Given the description of an element on the screen output the (x, y) to click on. 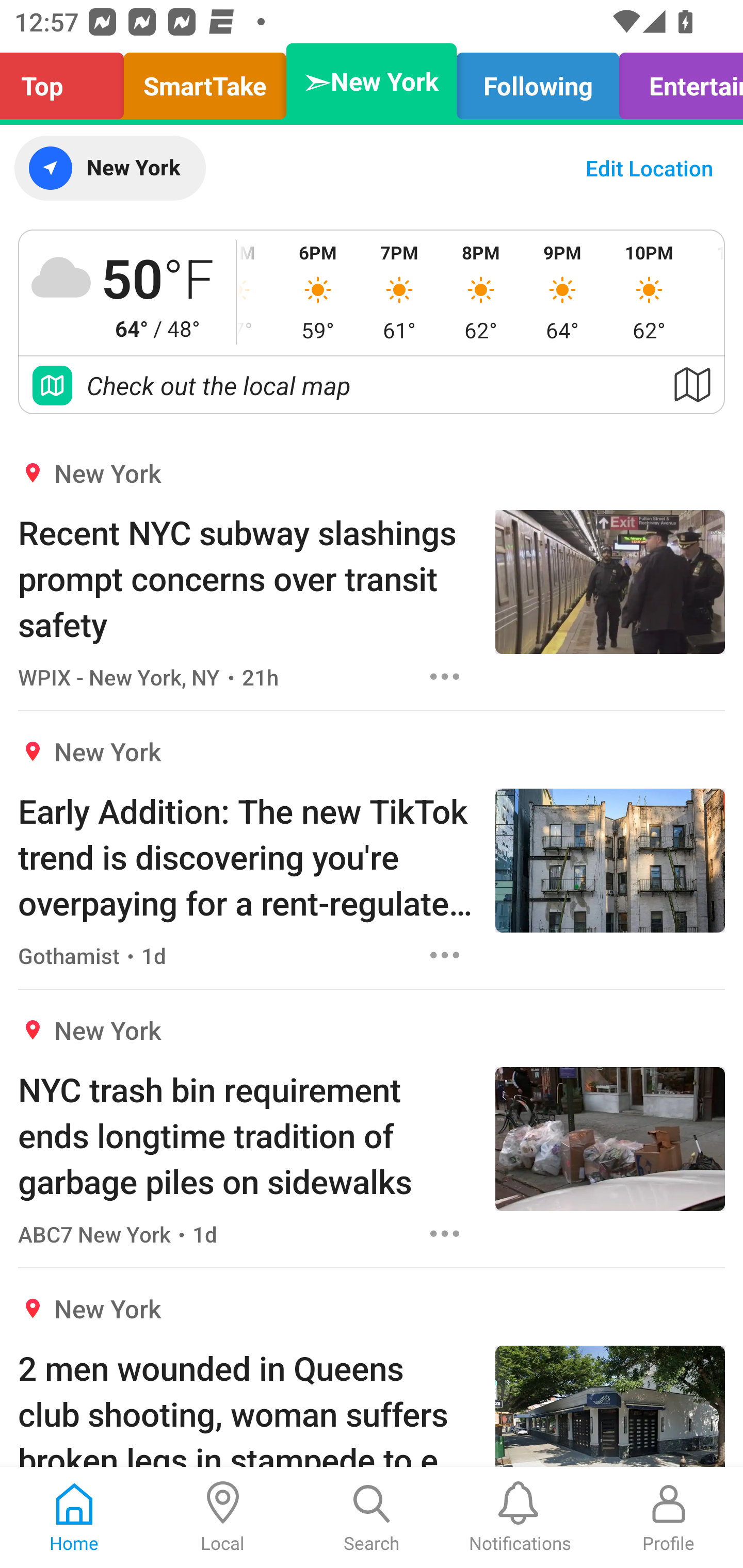
Top (67, 81)
SmartTake (204, 81)
➣New York (371, 81)
Following (537, 81)
New York (109, 168)
Edit Location (648, 168)
5PM 57° (257, 291)
6PM 59° (317, 291)
7PM 61° (398, 291)
8PM 62° (480, 291)
9PM 64° (562, 291)
10PM 62° (648, 291)
Check out the local map (371, 384)
Options (444, 676)
Options (444, 954)
Options (444, 1233)
Local (222, 1517)
Search (371, 1517)
Notifications (519, 1517)
Profile (668, 1517)
